Given the description of an element on the screen output the (x, y) to click on. 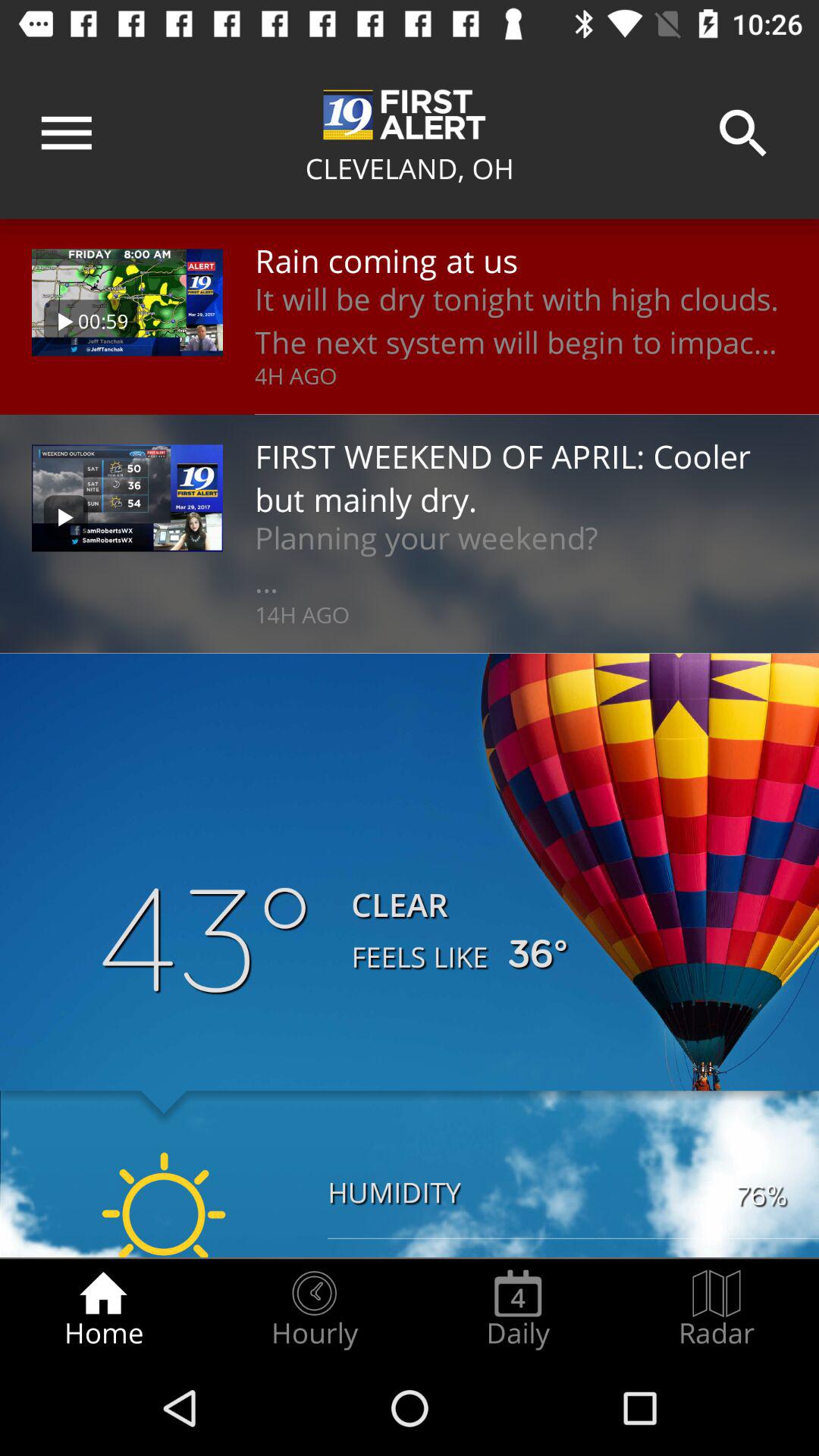
click the item to the left of daily (314, 1309)
